Given the description of an element on the screen output the (x, y) to click on. 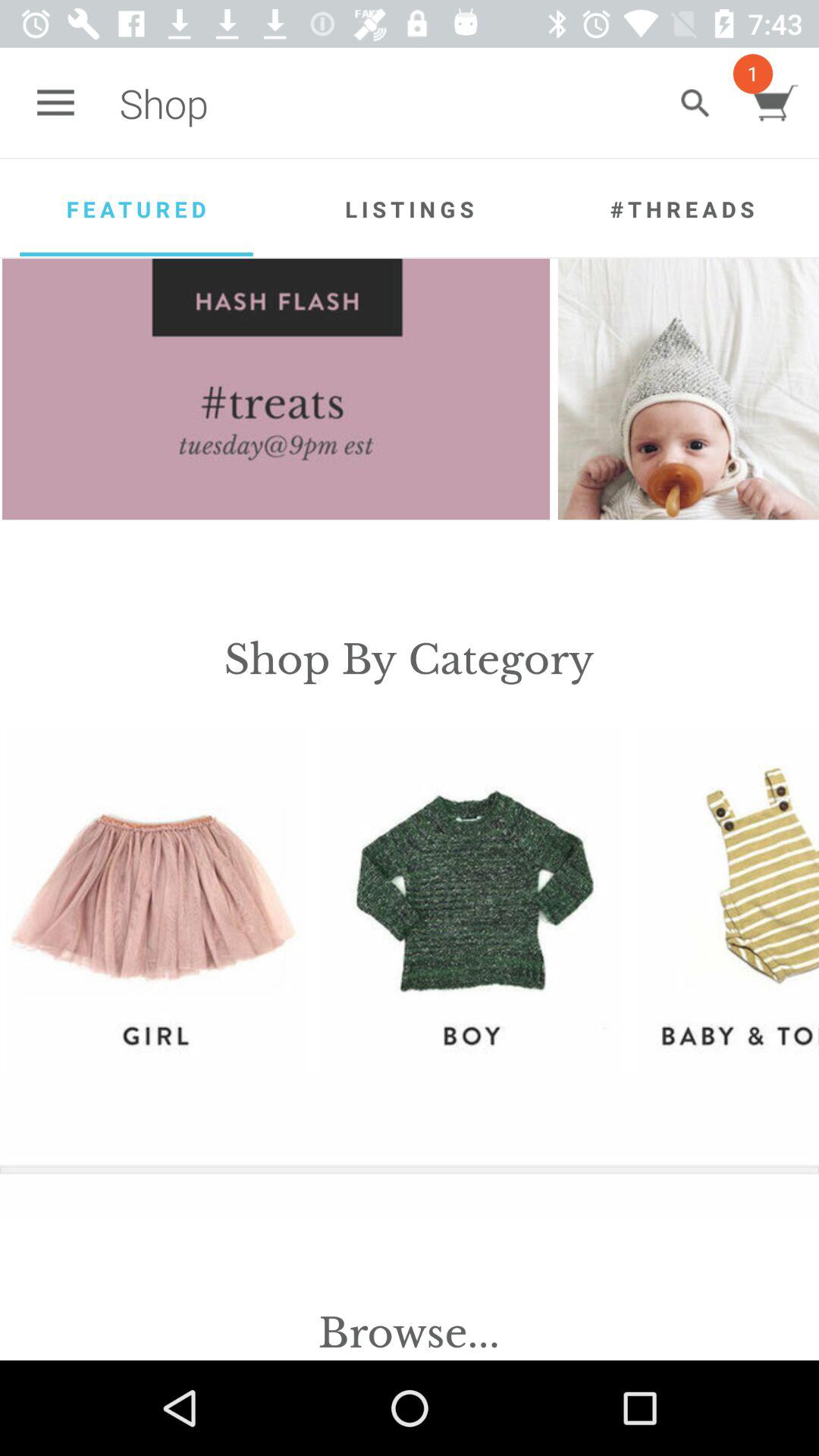
category select option (154, 899)
